Given the description of an element on the screen output the (x, y) to click on. 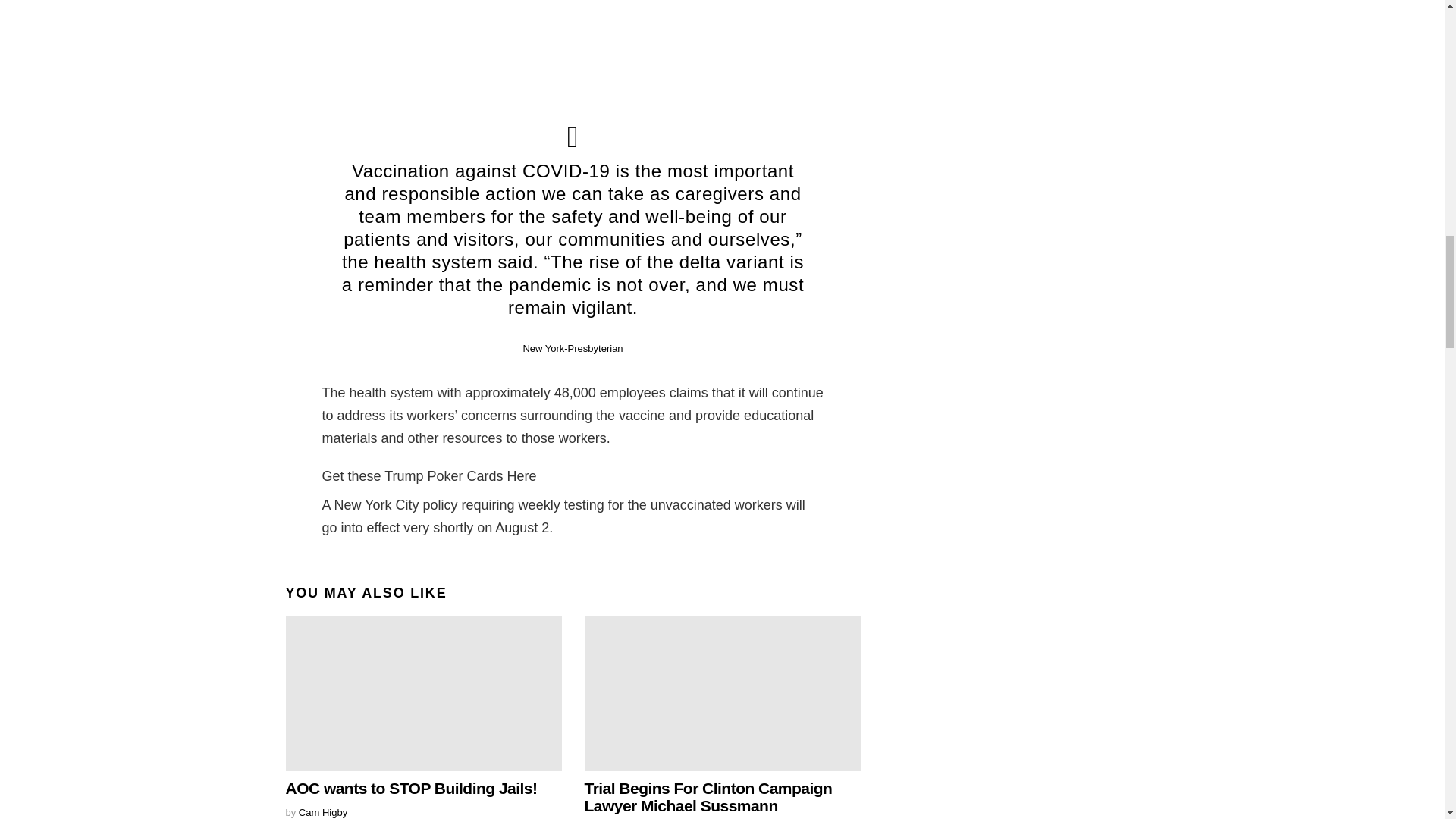
Cam Higby (322, 812)
AOC wants to STOP Building Jails! (422, 693)
Trial Begins For Clinton Campaign Lawyer Michael Sussmann (721, 693)
Trial Begins For Clinton Campaign Lawyer Michael Sussmann (707, 796)
Posts by Cam Higby (322, 812)
AOC wants to STOP Building Jails! (411, 787)
